Given the description of an element on the screen output the (x, y) to click on. 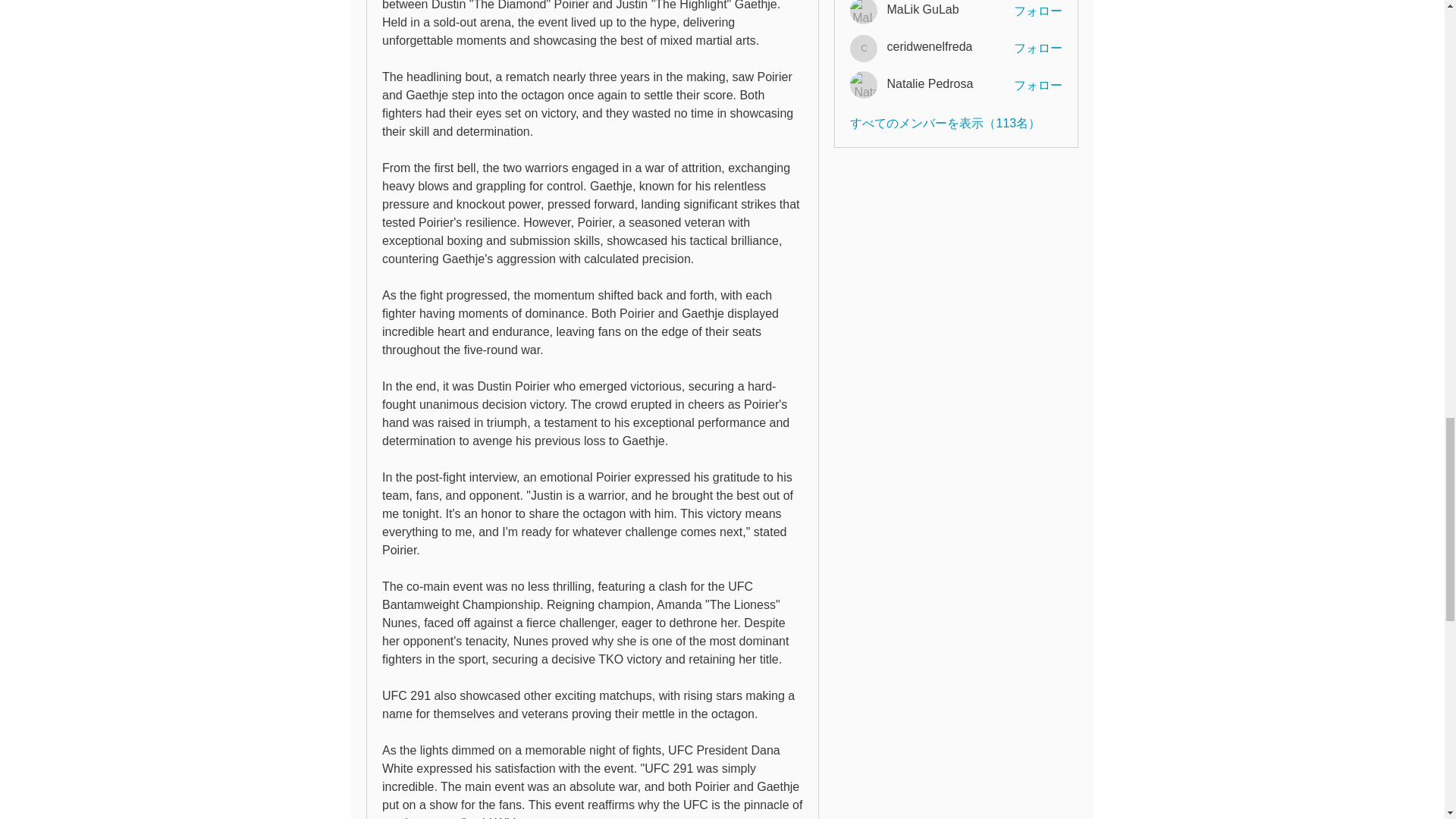
MaLik GuLab (863, 12)
Natalie Pedrosa (929, 83)
ceridwenelfreda (863, 48)
Natalie Pedrosa (863, 84)
MaLik GuLab (922, 9)
ceridwenelfreda (929, 46)
